Given the description of an element on the screen output the (x, y) to click on. 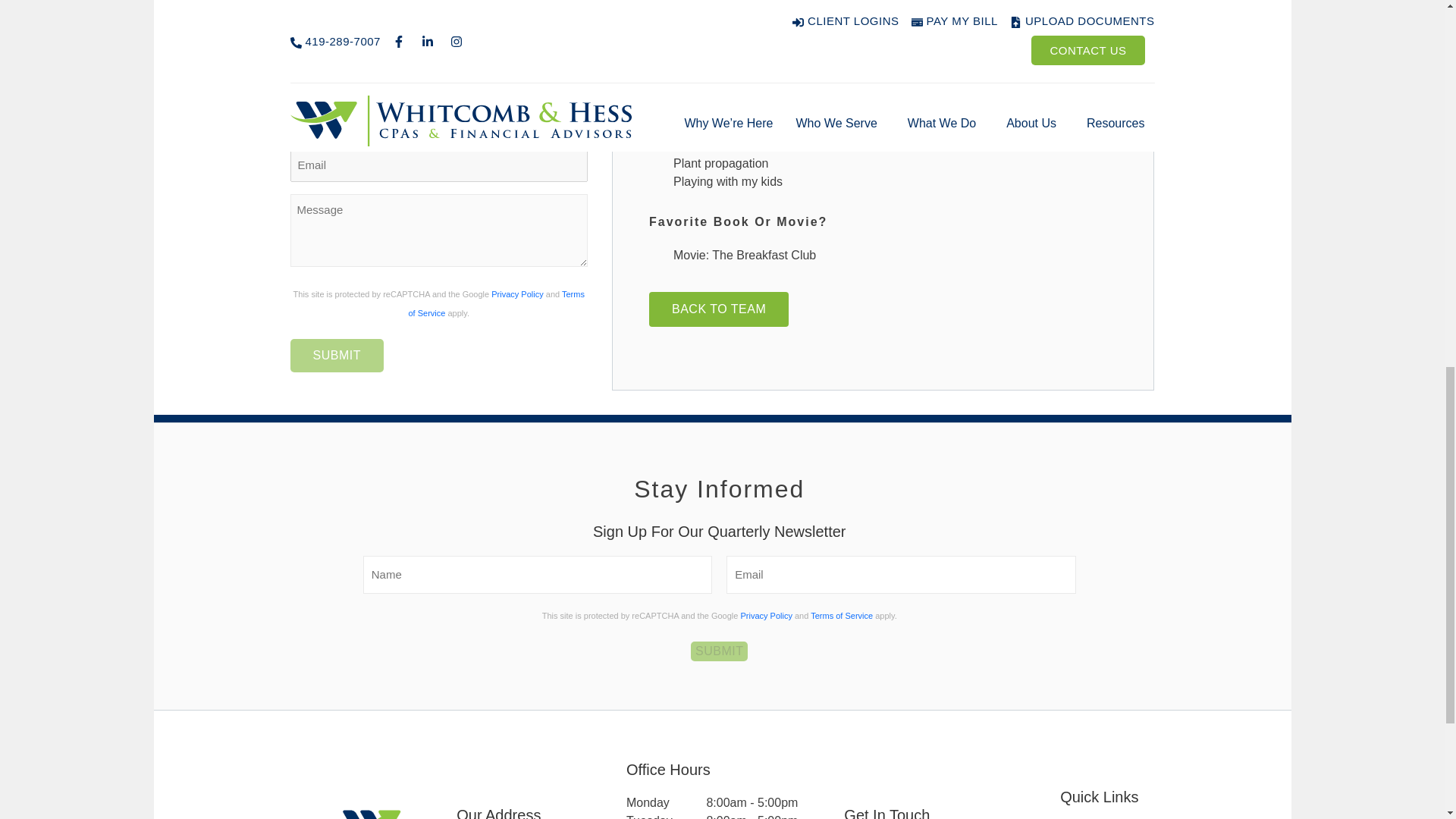
Submit (719, 650)
Submit (335, 355)
